Given the description of an element on the screen output the (x, y) to click on. 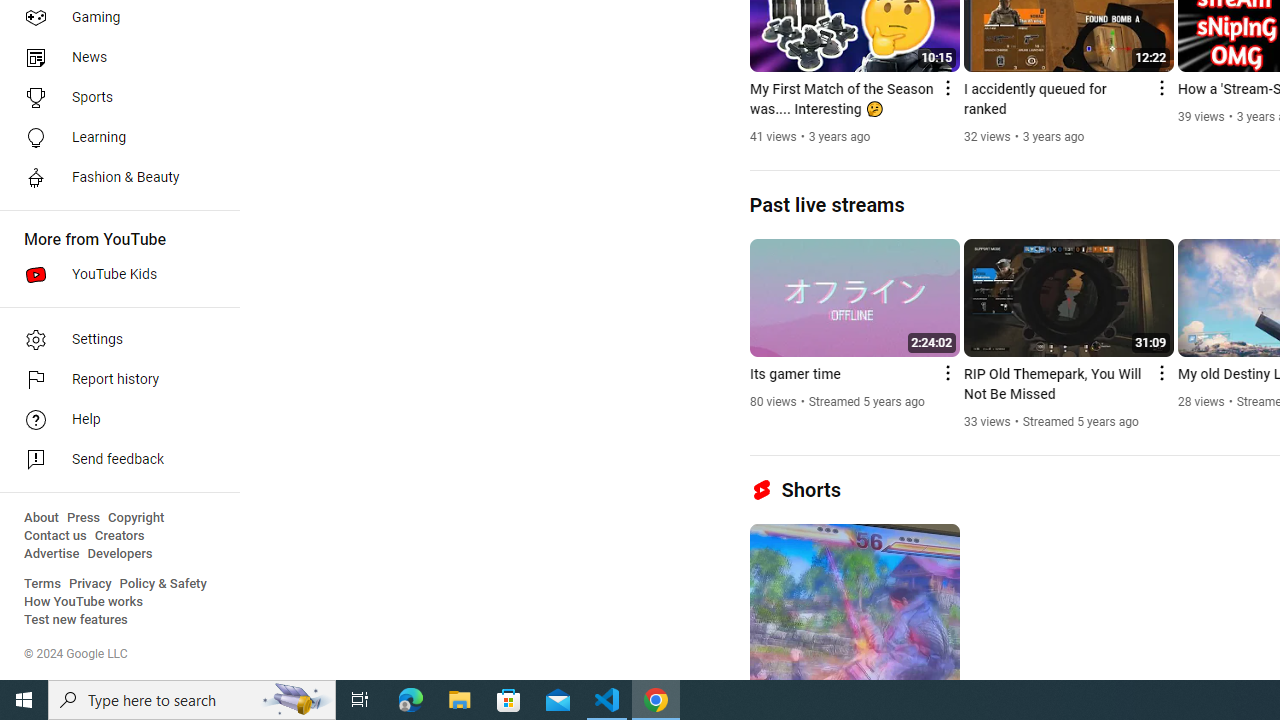
Send feedback (113, 459)
Learning (113, 137)
Fashion & Beauty (113, 177)
Creators (118, 536)
Advertise (51, 554)
Test new features (76, 620)
About (41, 518)
YouTube Kids (113, 274)
Sports (113, 97)
